Given the description of an element on the screen output the (x, y) to click on. 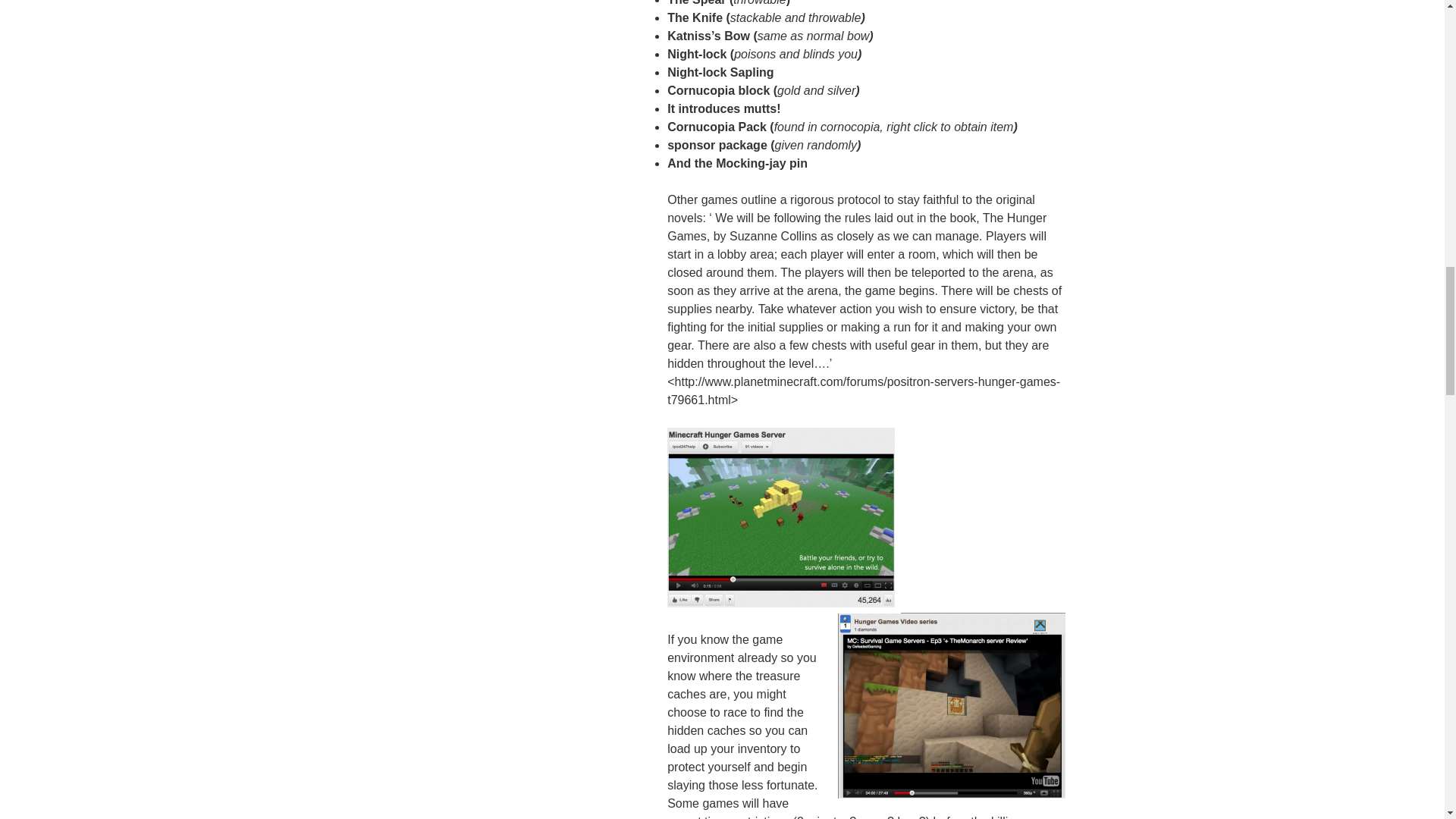
MC Server Survival Game Ep3 (950, 705)
